Given the description of an element on the screen output the (x, y) to click on. 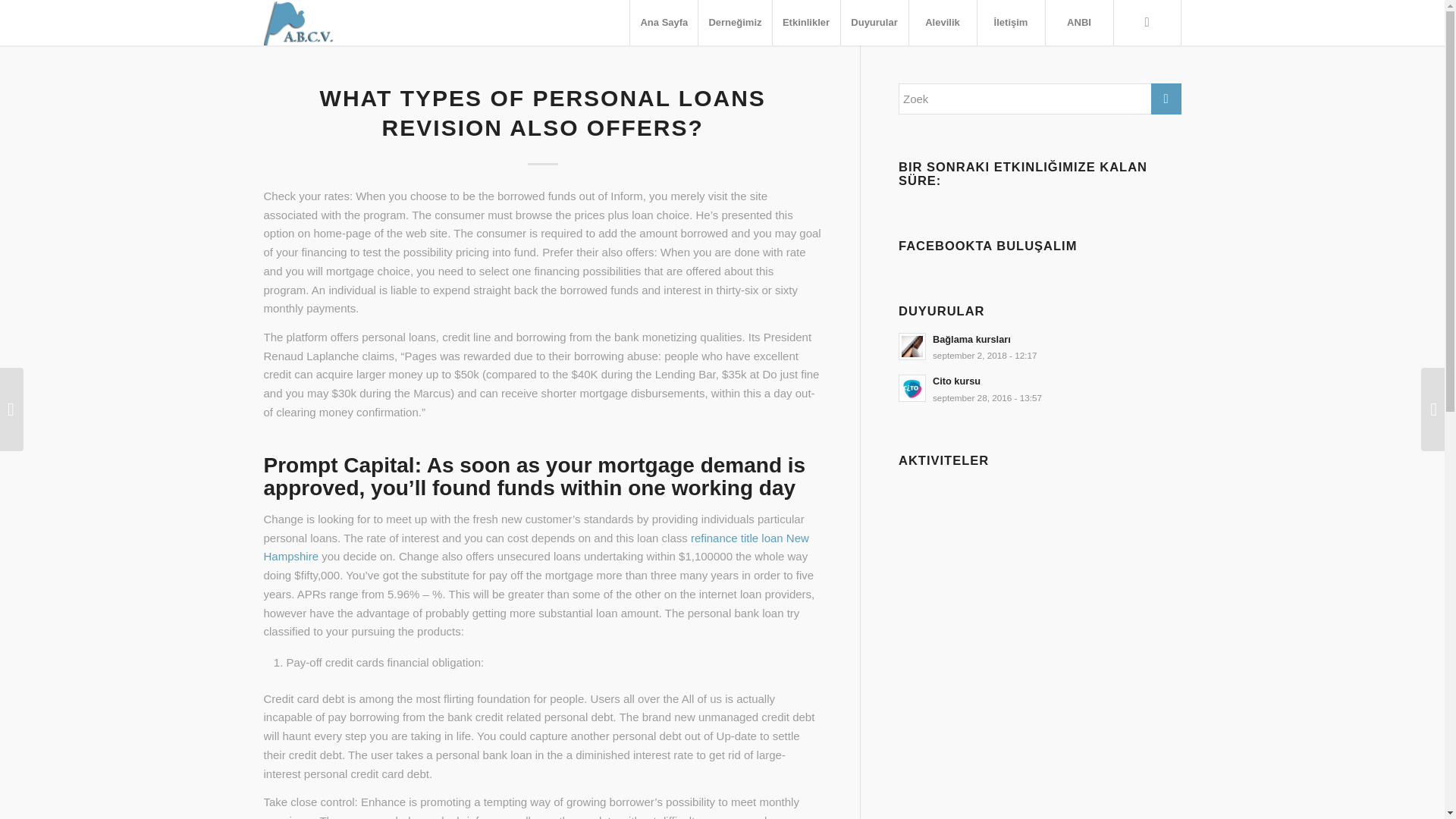
Duyurular (874, 22)
Etkinlikler (805, 22)
Cito kursu (1039, 388)
ANBI (1079, 22)
WHAT TYPES OF PERSONAL LOANS REVISION ALSO OFFERS? (542, 112)
Alevilik (1039, 388)
refinance title loan New Hampshire (942, 22)
Ana Sayfa (536, 547)
